Given the description of an element on the screen output the (x, y) to click on. 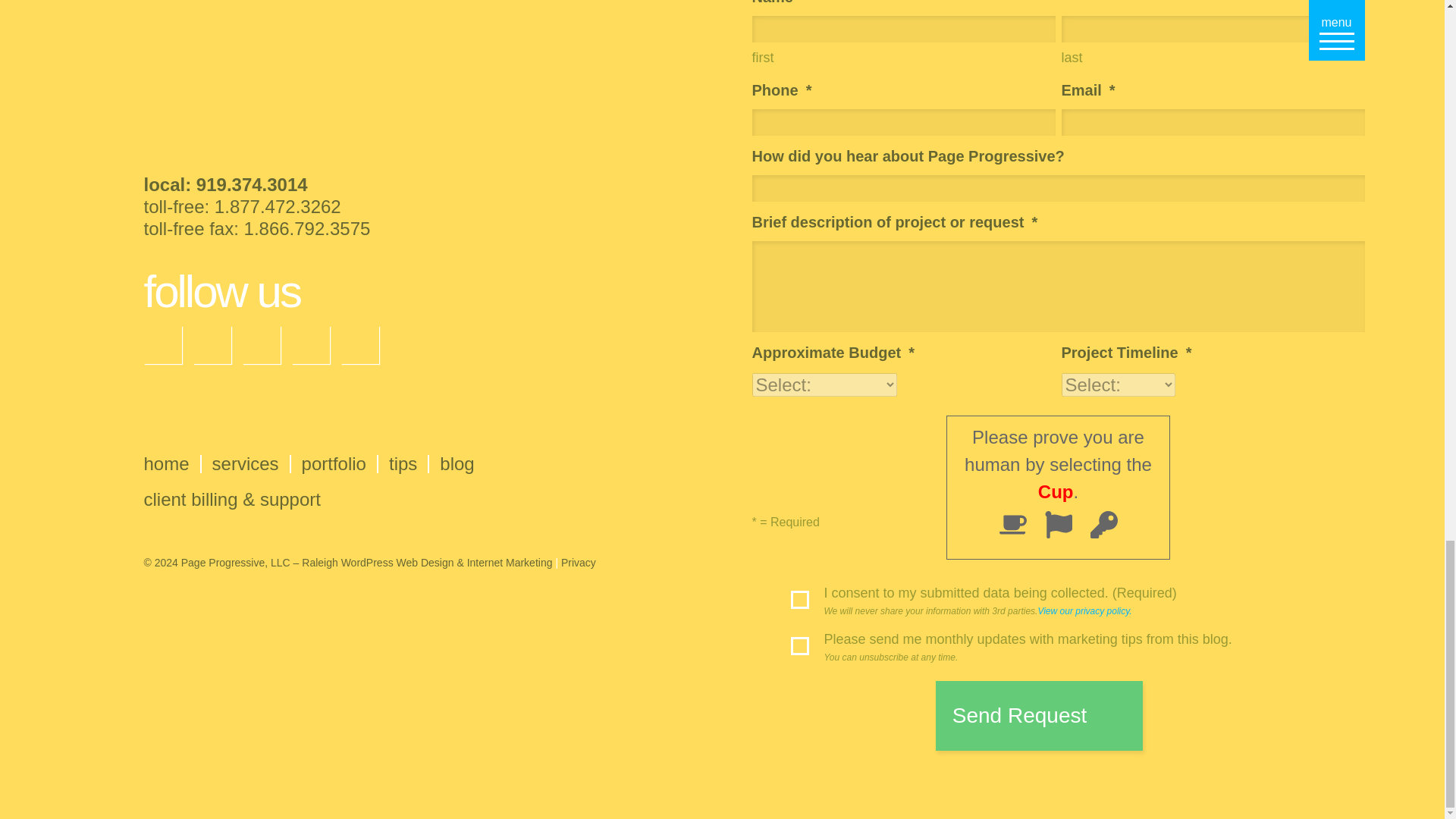
services (245, 463)
tips (402, 463)
portfolio (333, 463)
Privacy (577, 562)
blog (456, 463)
Send Request (1039, 715)
home (166, 463)
View our privacy policy. (1083, 611)
